Given the description of an element on the screen output the (x, y) to click on. 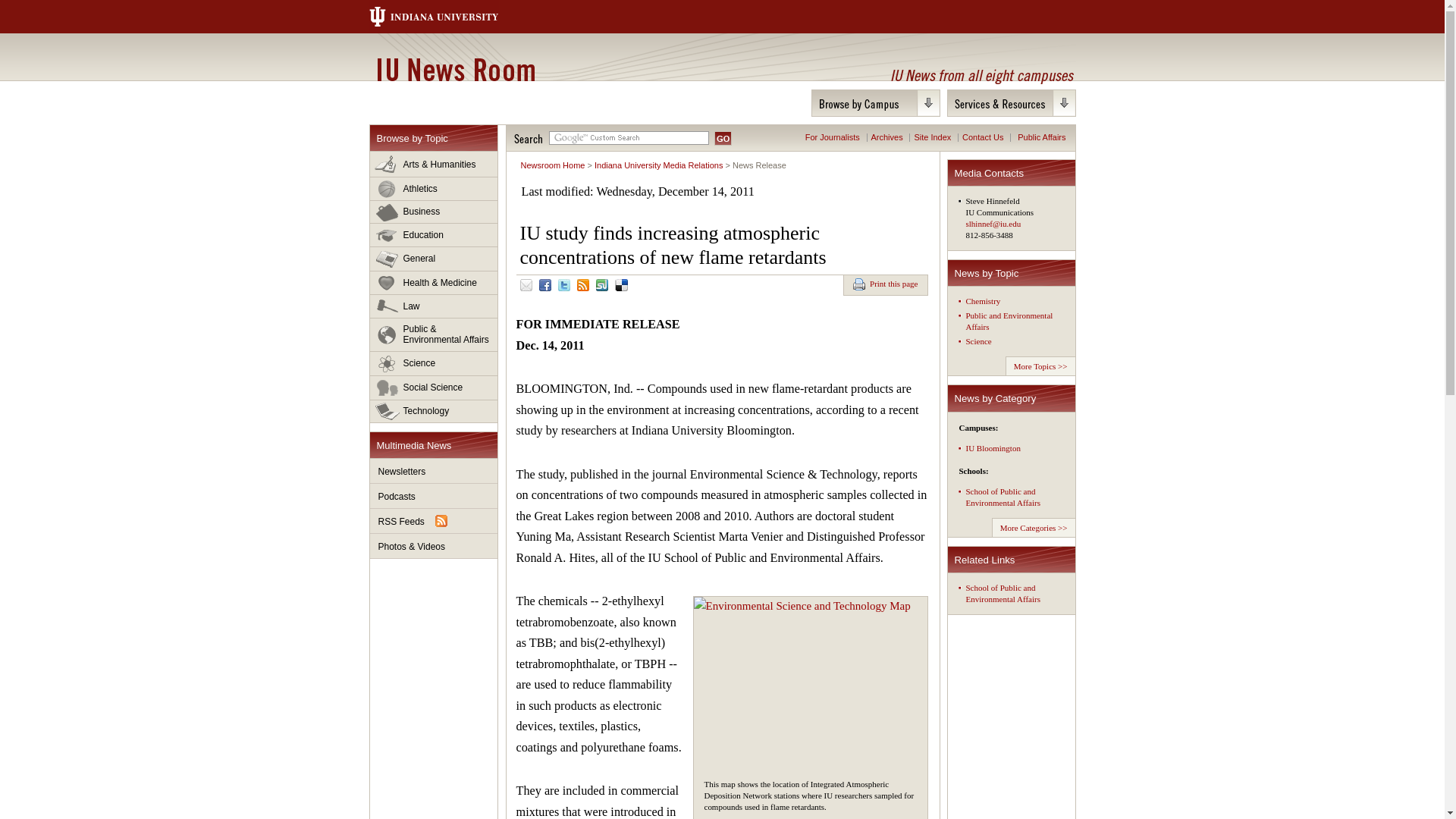
Indiana University (448, 16)
Law (433, 306)
IU News Room (455, 69)
Athletics (433, 188)
Business (433, 211)
Podcasts (433, 496)
Education (433, 235)
General (433, 259)
General (433, 259)
Science (433, 363)
Athletics (433, 188)
Business (433, 211)
RSS Feeds (433, 520)
Newsletters (433, 471)
IU News Room (455, 69)
